Given the description of an element on the screen output the (x, y) to click on. 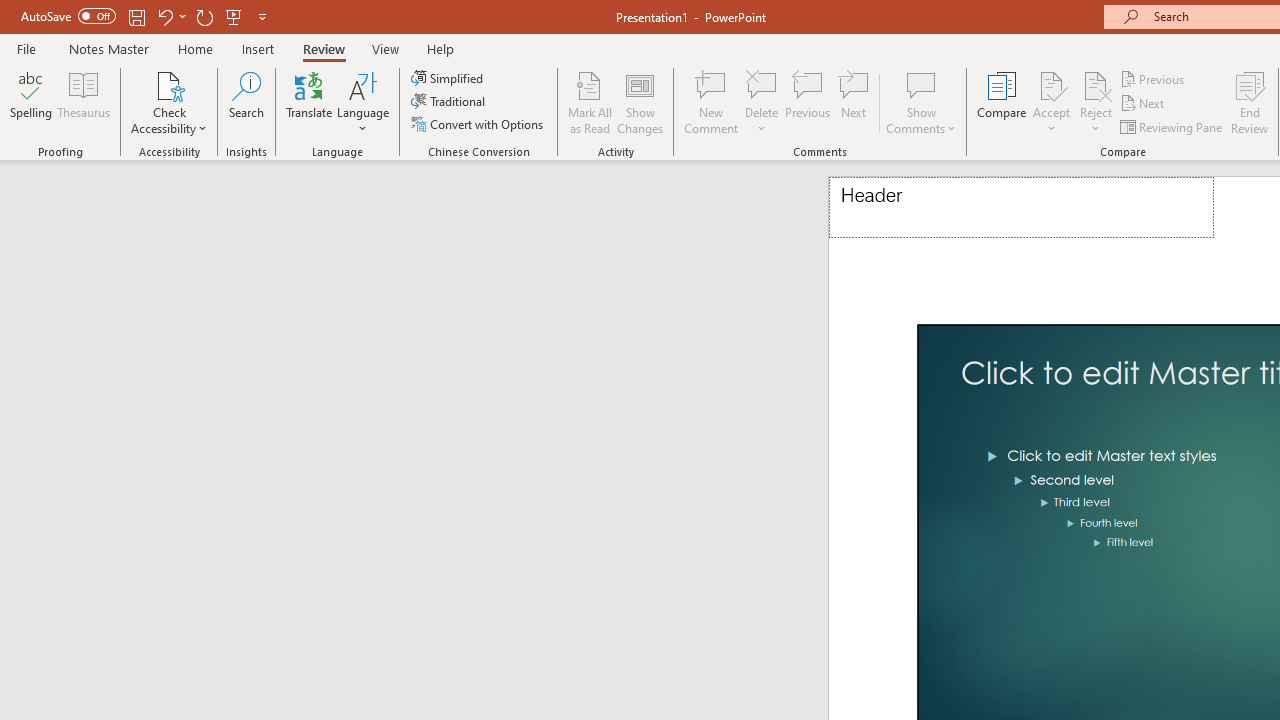
Header (1021, 207)
End Review (1249, 102)
Thesaurus... (83, 102)
Accept (1051, 102)
